Given the description of an element on the screen output the (x, y) to click on. 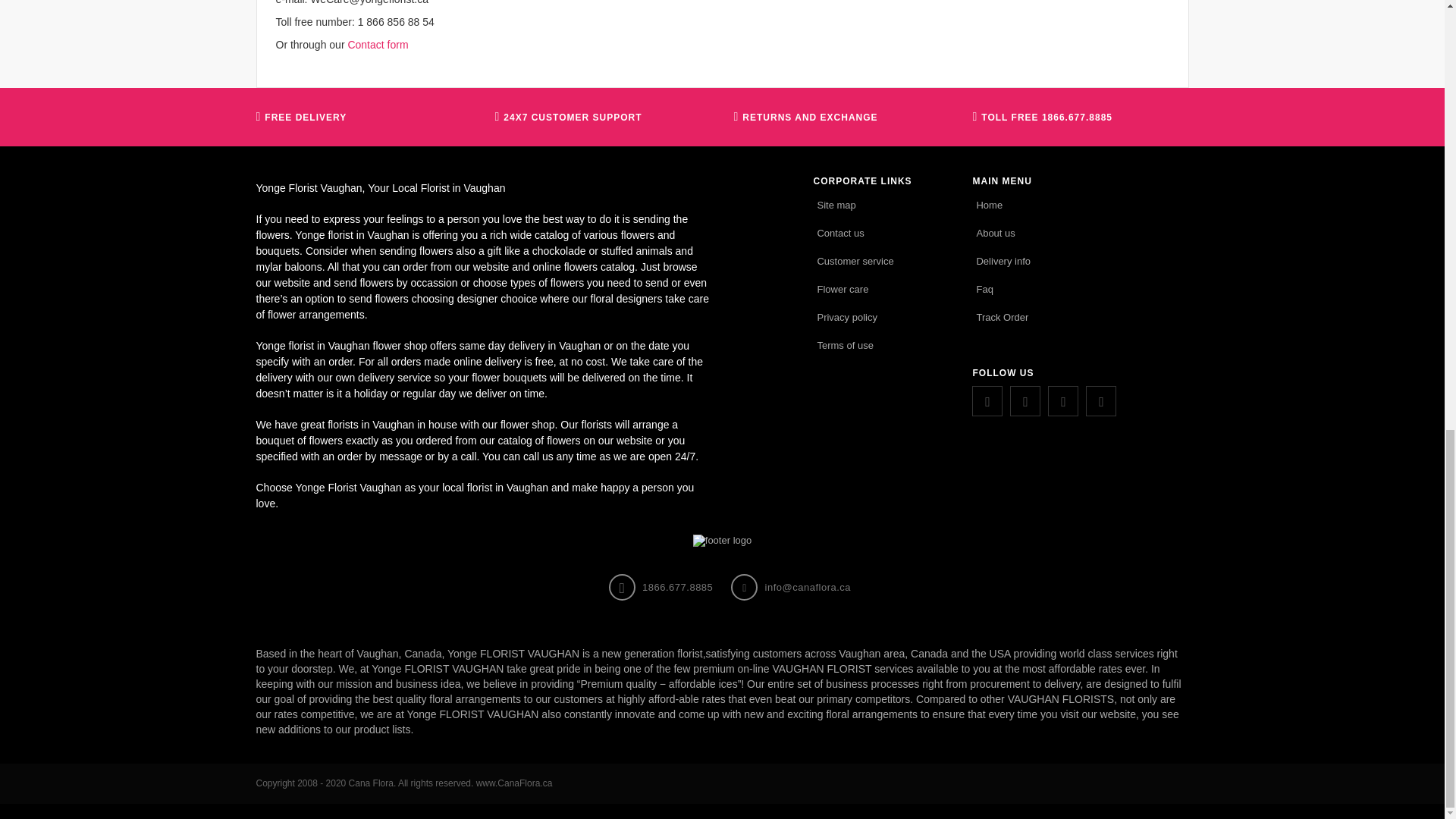
Site map (836, 205)
Contact form (377, 44)
